Given the description of an element on the screen output the (x, y) to click on. 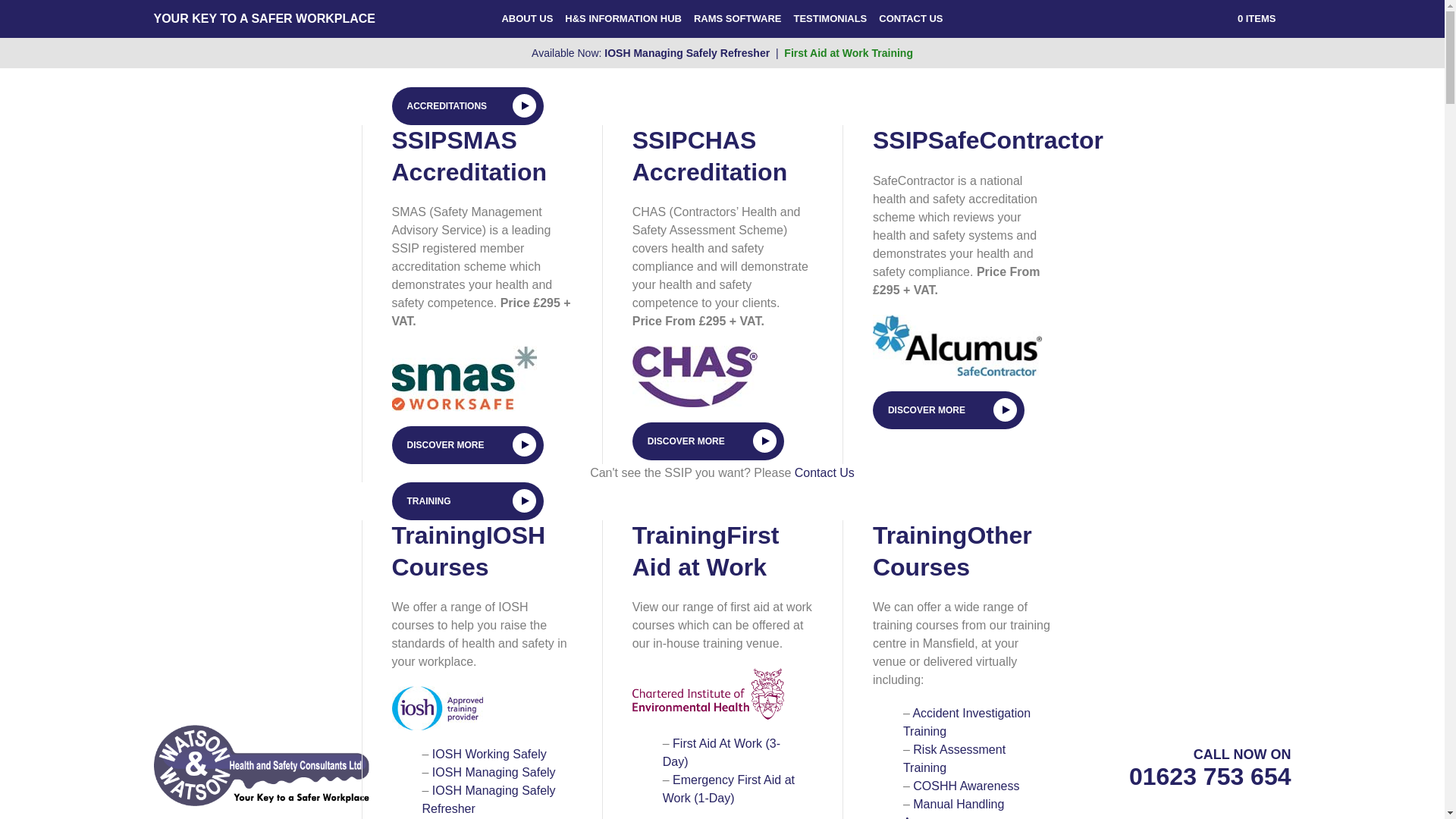
RAMS SOFTWARE (737, 18)
Accident Investigation Training (966, 721)
DISCOVER MORE (707, 441)
IOSH Managing Safely Refresher (488, 798)
First Aid at Work Training (848, 52)
SSIPCHAS Accreditation (709, 155)
ABOUT US (526, 18)
DISCOVER MORE (948, 410)
TrainingFirst Aid at Work (704, 550)
Risk Assessment Training (954, 757)
